Given the description of an element on the screen output the (x, y) to click on. 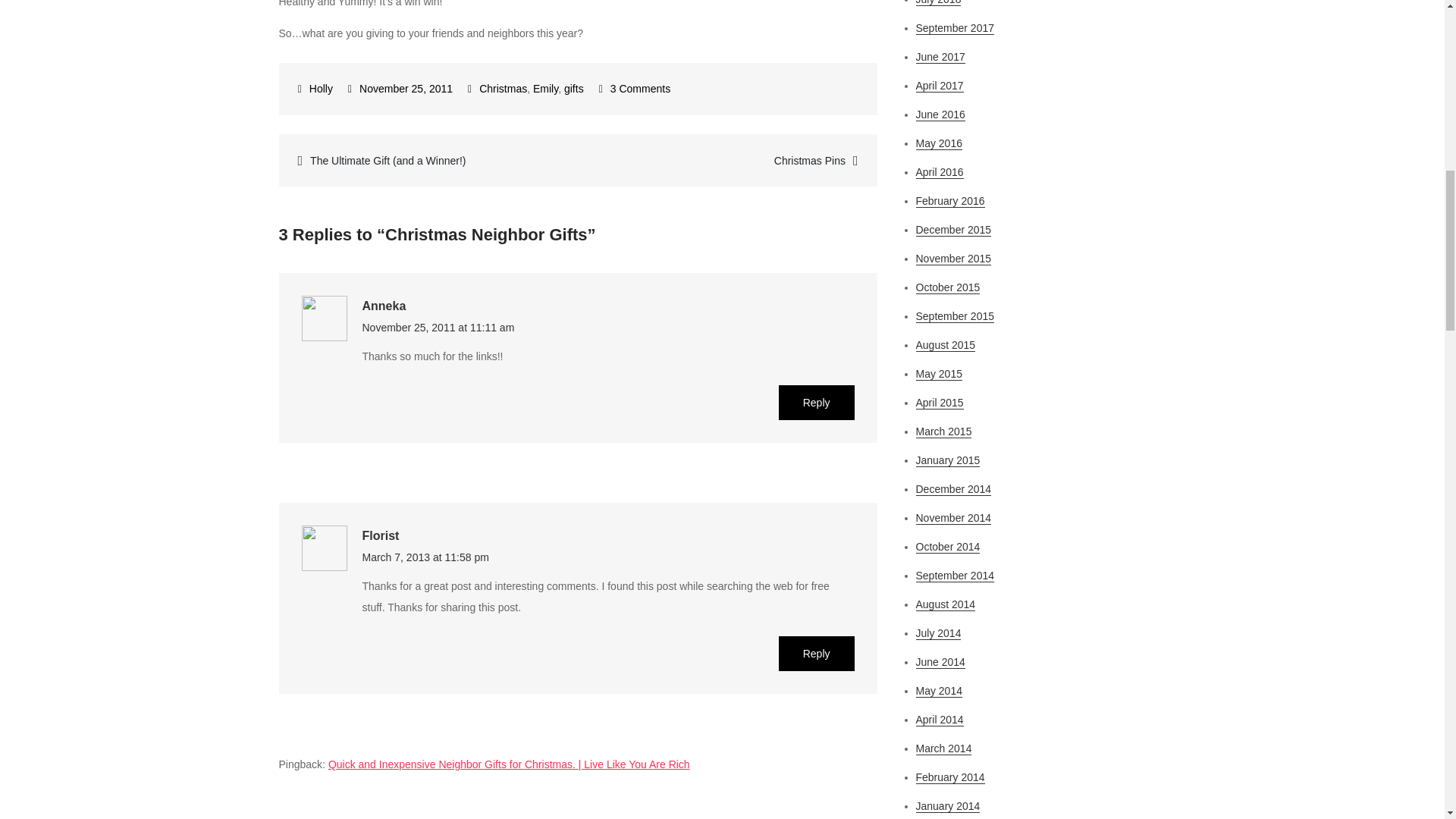
Holly (315, 88)
Christmas (503, 88)
November 25, 2011 (399, 88)
